Given the description of an element on the screen output the (x, y) to click on. 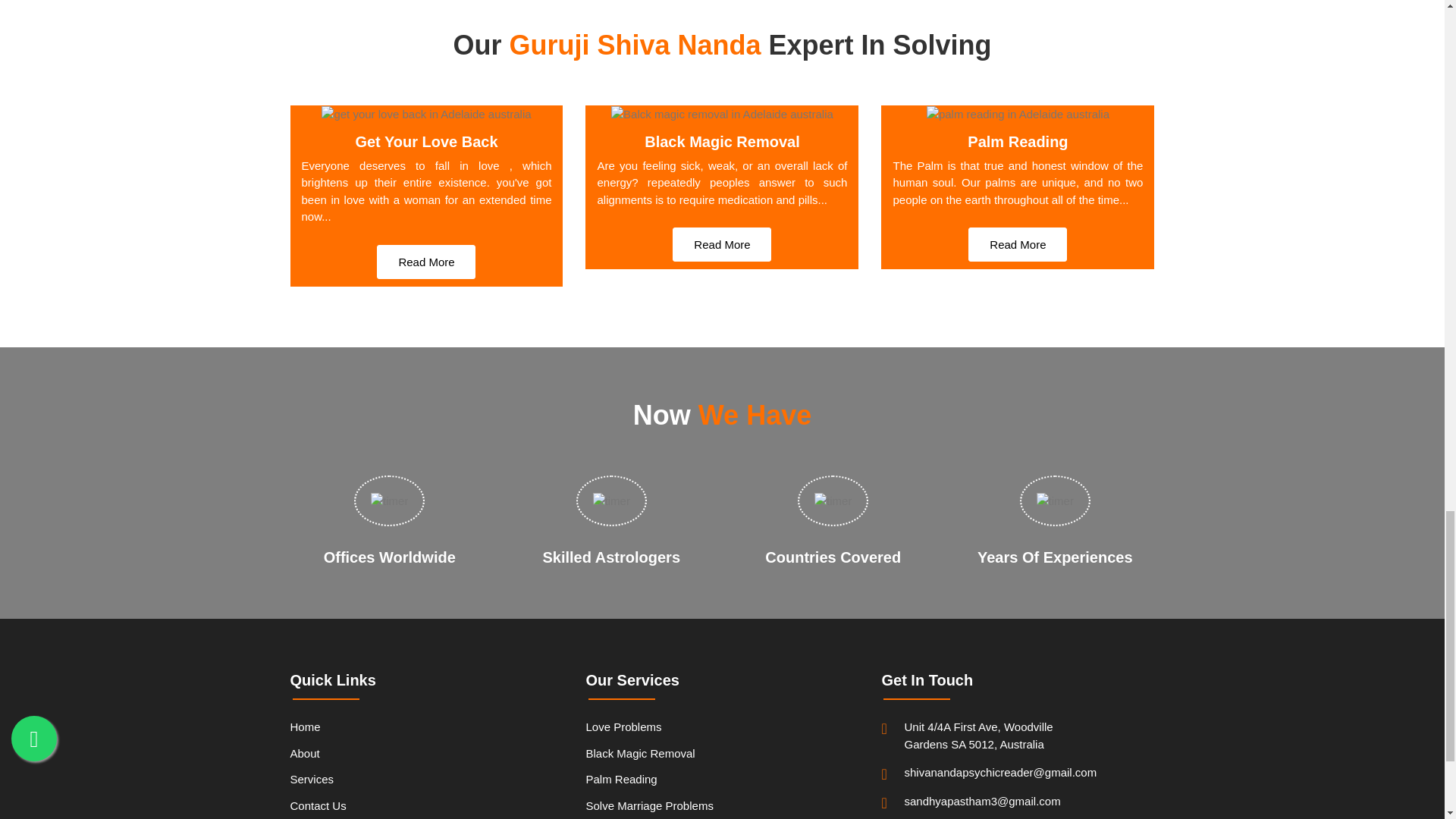
Contact Us (425, 803)
Read More (721, 244)
Solve Marriage Problems (722, 806)
Read More (426, 261)
Read More (1017, 244)
Home (425, 730)
Services (425, 780)
Love Problems (722, 730)
Palm Reading (722, 780)
About (425, 755)
Black Magic Removal (722, 755)
